Given the description of an element on the screen output the (x, y) to click on. 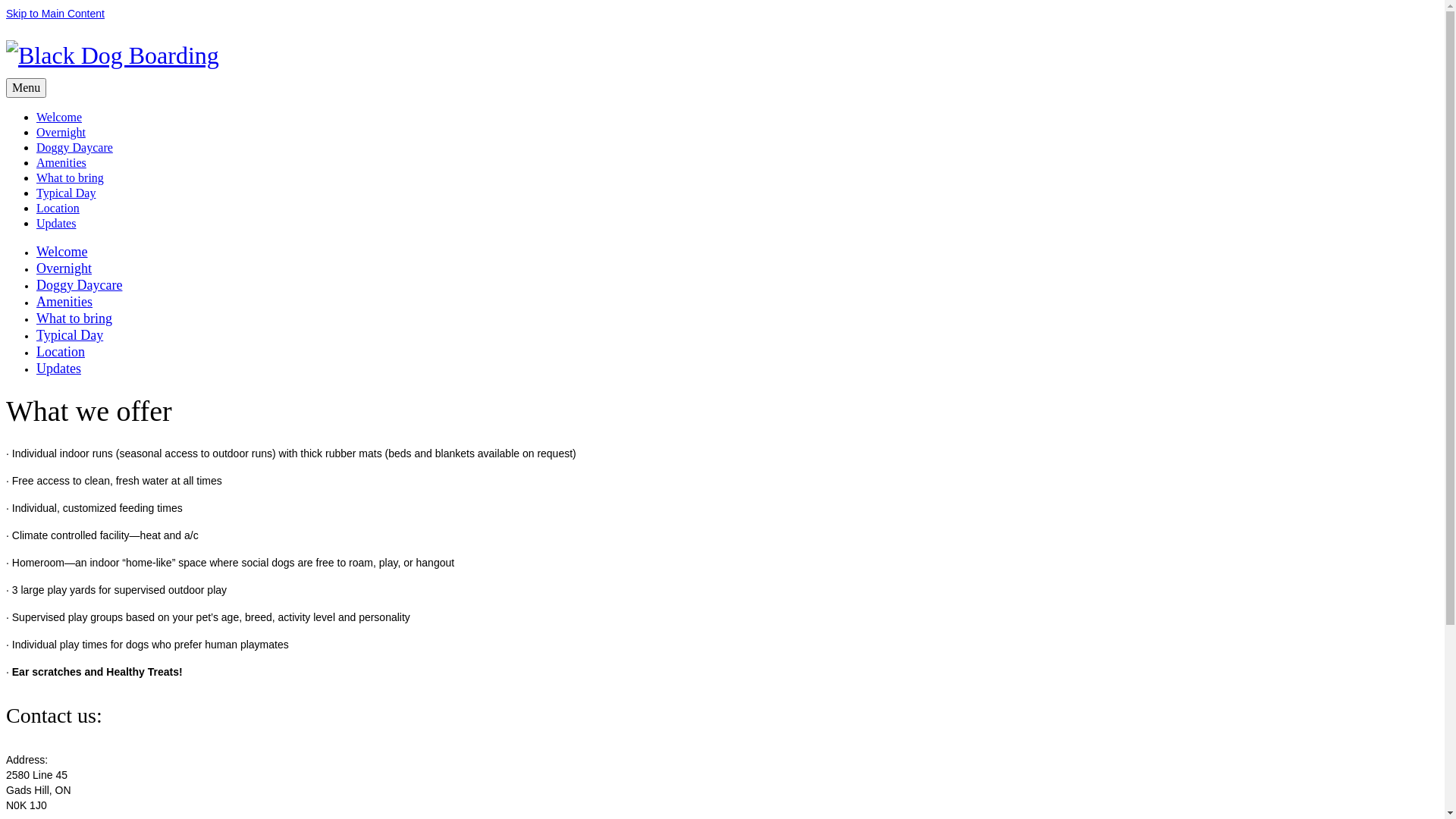
Updates Element type: text (58, 368)
Updates Element type: text (55, 222)
Amenities Element type: text (64, 301)
Typical Day Element type: text (65, 192)
Overnight Element type: text (60, 131)
Location Element type: text (60, 351)
What to bring Element type: text (69, 177)
Doggy Daycare Element type: text (74, 147)
Typical Day Element type: text (69, 334)
Location Element type: text (57, 207)
Menu Element type: text (26, 87)
Amenities Element type: text (61, 162)
Welcome Element type: text (61, 251)
Overnight Element type: text (63, 268)
Welcome Element type: text (58, 116)
Doggy Daycare Element type: text (79, 284)
What to bring Element type: text (74, 318)
Skip to Main Content Element type: text (55, 13)
